Given the description of an element on the screen output the (x, y) to click on. 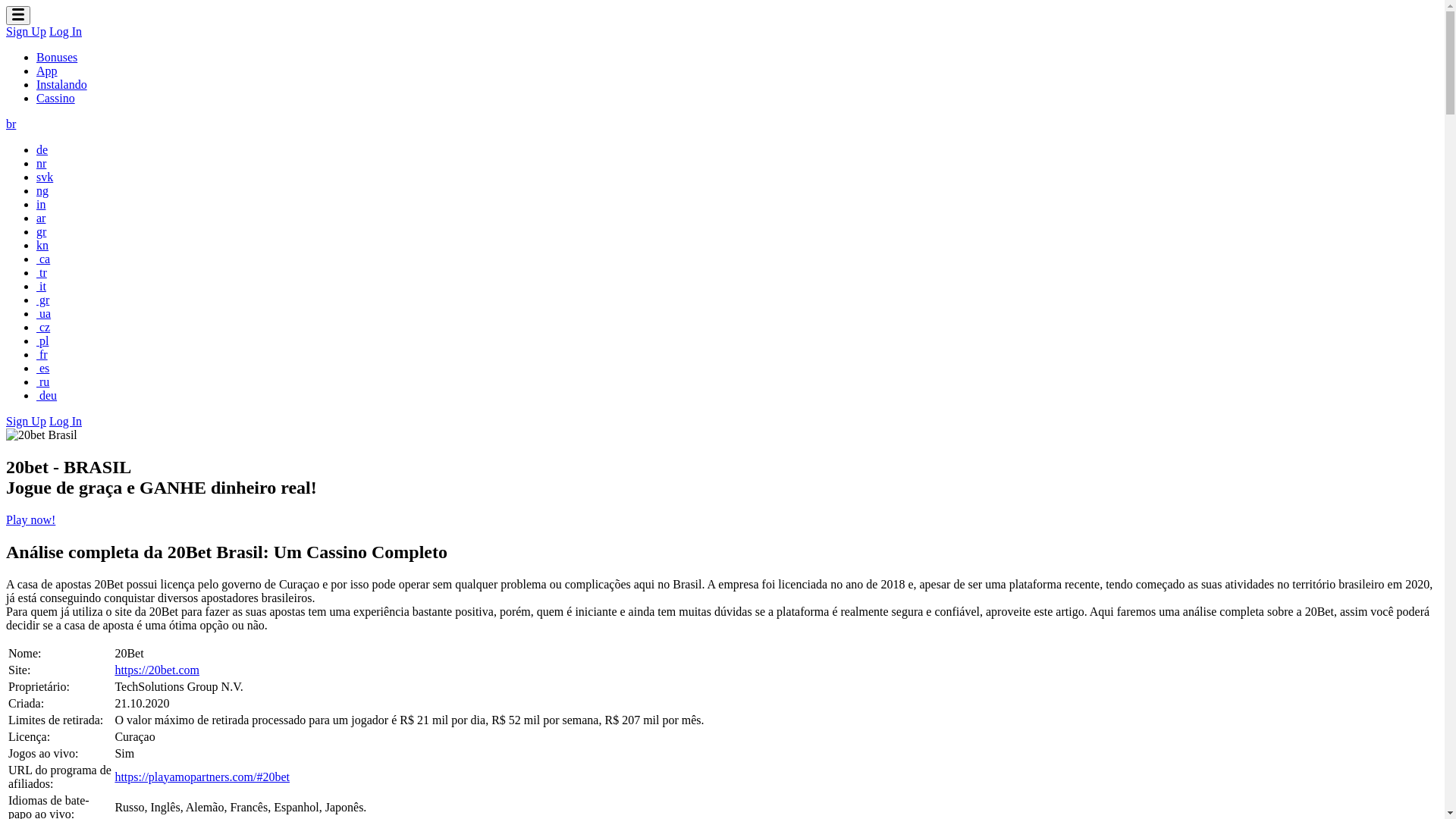
kn Element type: text (42, 244)
ng Element type: text (42, 190)
nr Element type: text (41, 162)
ua Element type: text (43, 313)
Sign Up Element type: text (26, 31)
fr Element type: text (41, 354)
ar Element type: text (40, 217)
svk Element type: text (44, 176)
https://20bet.com Element type: text (156, 669)
Log In Element type: text (65, 420)
pl Element type: text (42, 340)
App Element type: text (46, 70)
es Element type: text (42, 367)
de Element type: text (41, 149)
tr Element type: text (41, 272)
in Element type: text (40, 203)
Cassino Element type: text (55, 97)
ca Element type: text (43, 258)
cz Element type: text (43, 326)
gr Element type: text (41, 231)
https://playamopartners.com/#20bet Element type: text (201, 776)
Instalando Element type: text (61, 84)
br Element type: text (10, 123)
ru Element type: text (42, 381)
gr Element type: text (42, 299)
Play now! Element type: text (30, 519)
it Element type: text (41, 285)
Sign Up Element type: text (26, 420)
Log In Element type: text (65, 31)
deu Element type: text (46, 395)
Bonuses Element type: text (56, 56)
